Given the description of an element on the screen output the (x, y) to click on. 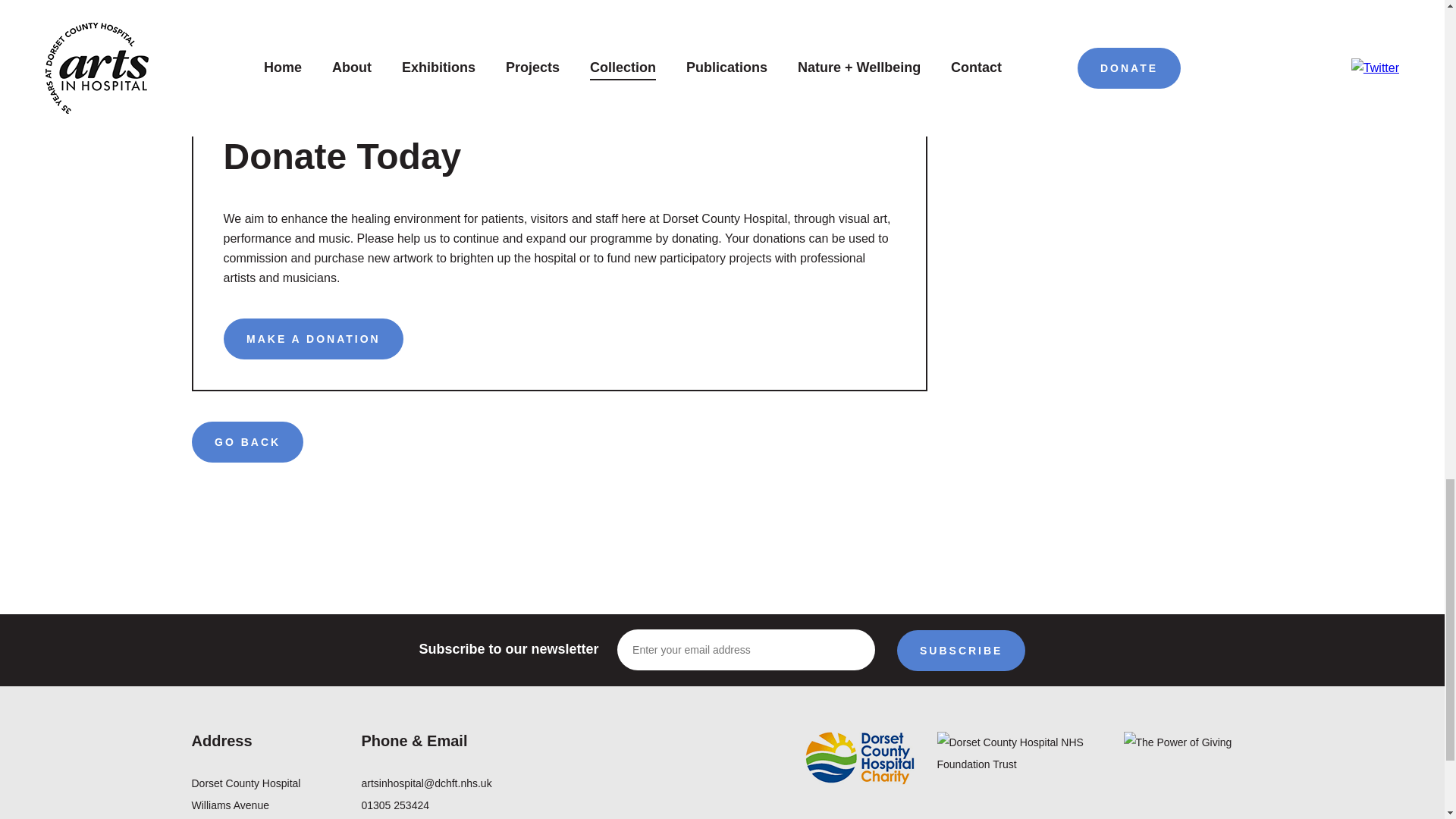
Subscribe (960, 649)
MAKE A DONATION (312, 338)
GO BACK (246, 441)
